Given the description of an element on the screen output the (x, y) to click on. 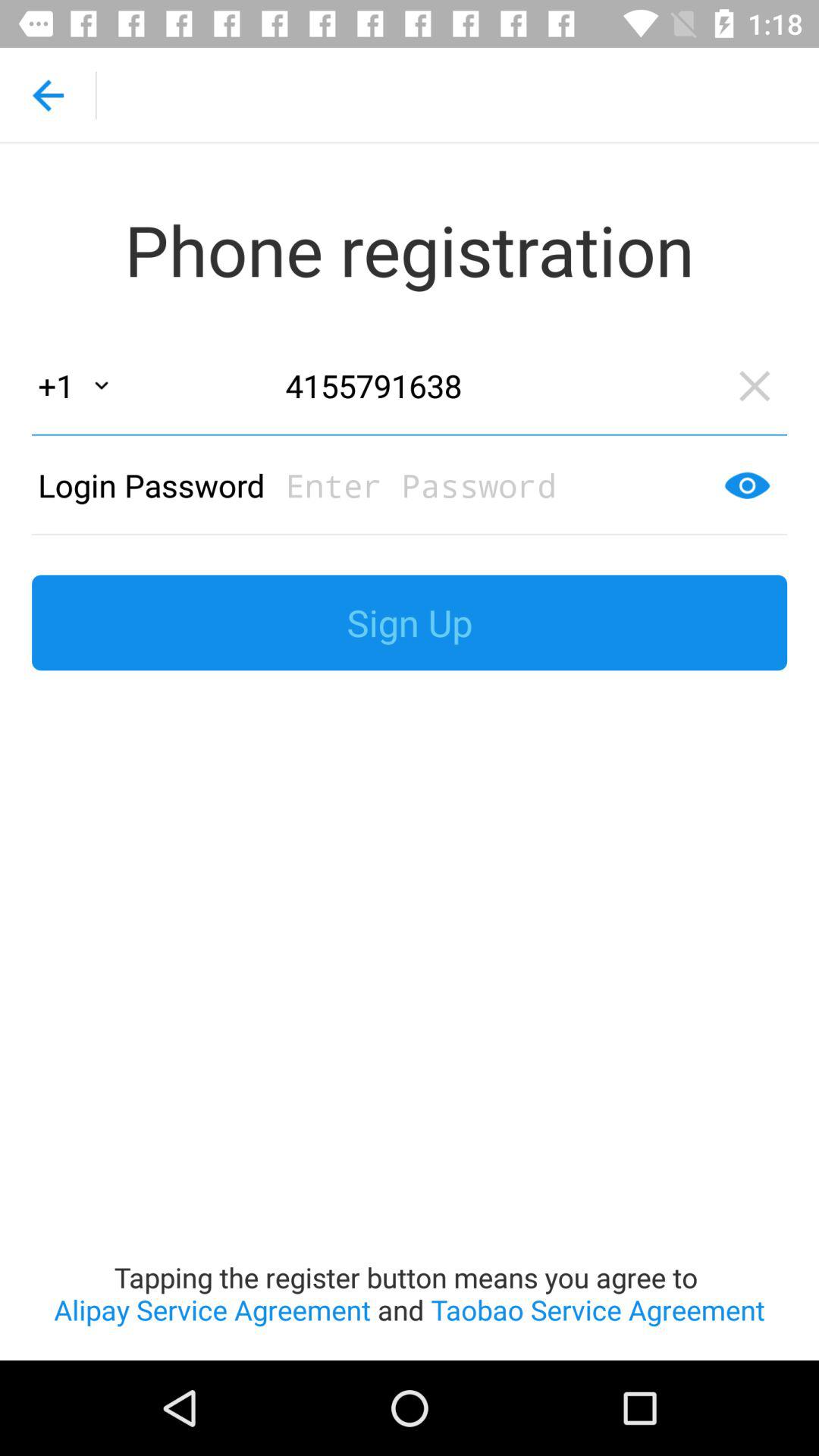
flip until the sign up (409, 622)
